Given the description of an element on the screen output the (x, y) to click on. 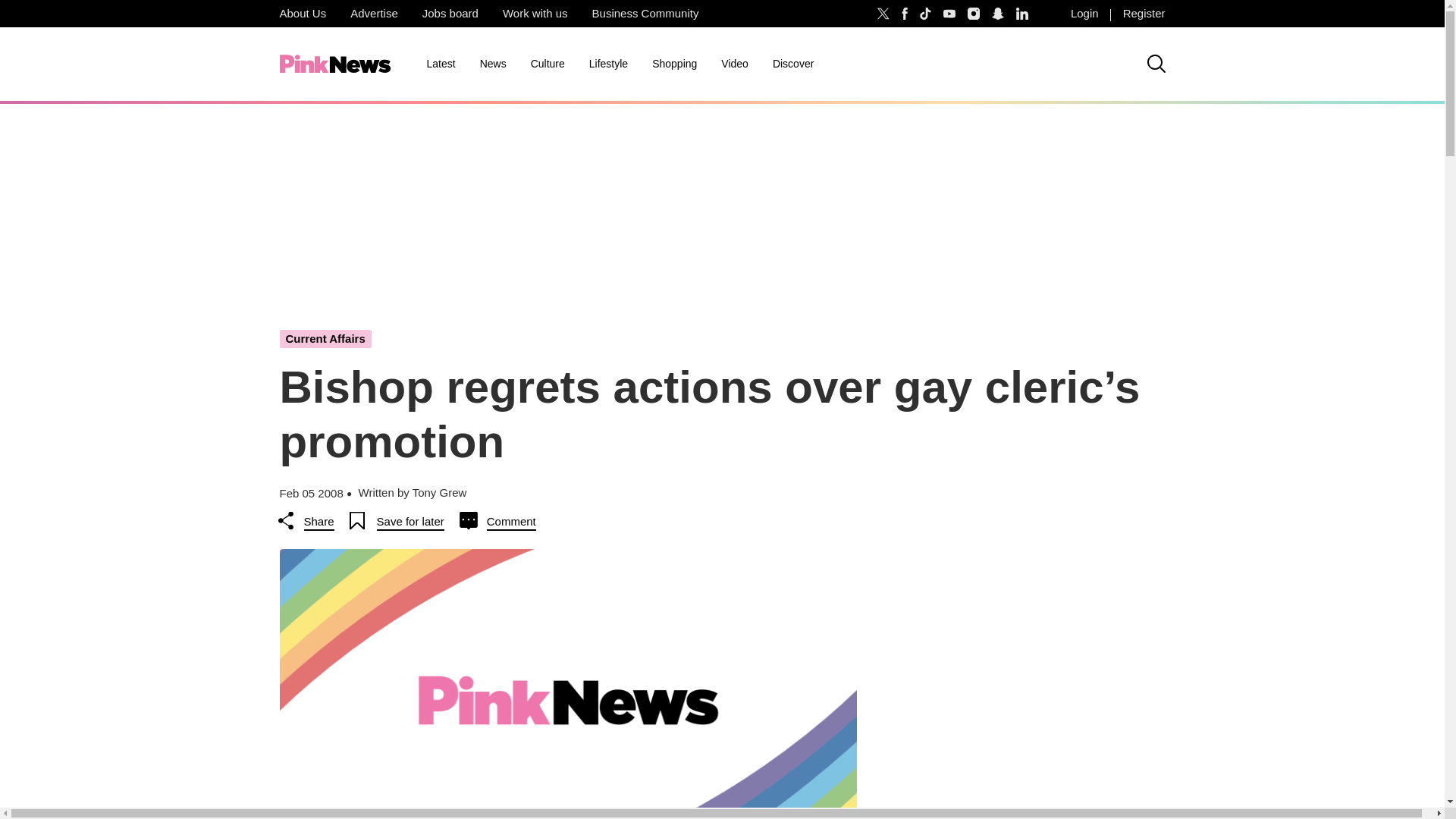
Work with us (534, 13)
Login (1084, 13)
Jobs board (450, 13)
Culture (547, 63)
Lifestyle (608, 63)
Register (1143, 13)
Follow PinkNews on LinkedIn (1021, 13)
News (493, 63)
Advertise (373, 13)
Business Community (645, 13)
